Given the description of an element on the screen output the (x, y) to click on. 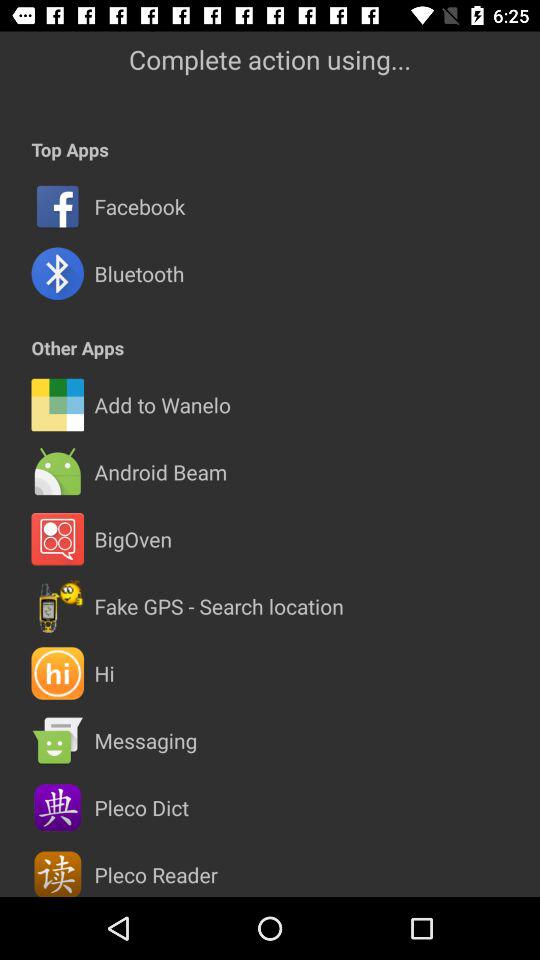
swipe until the fake gps search icon (218, 606)
